Given the description of an element on the screen output the (x, y) to click on. 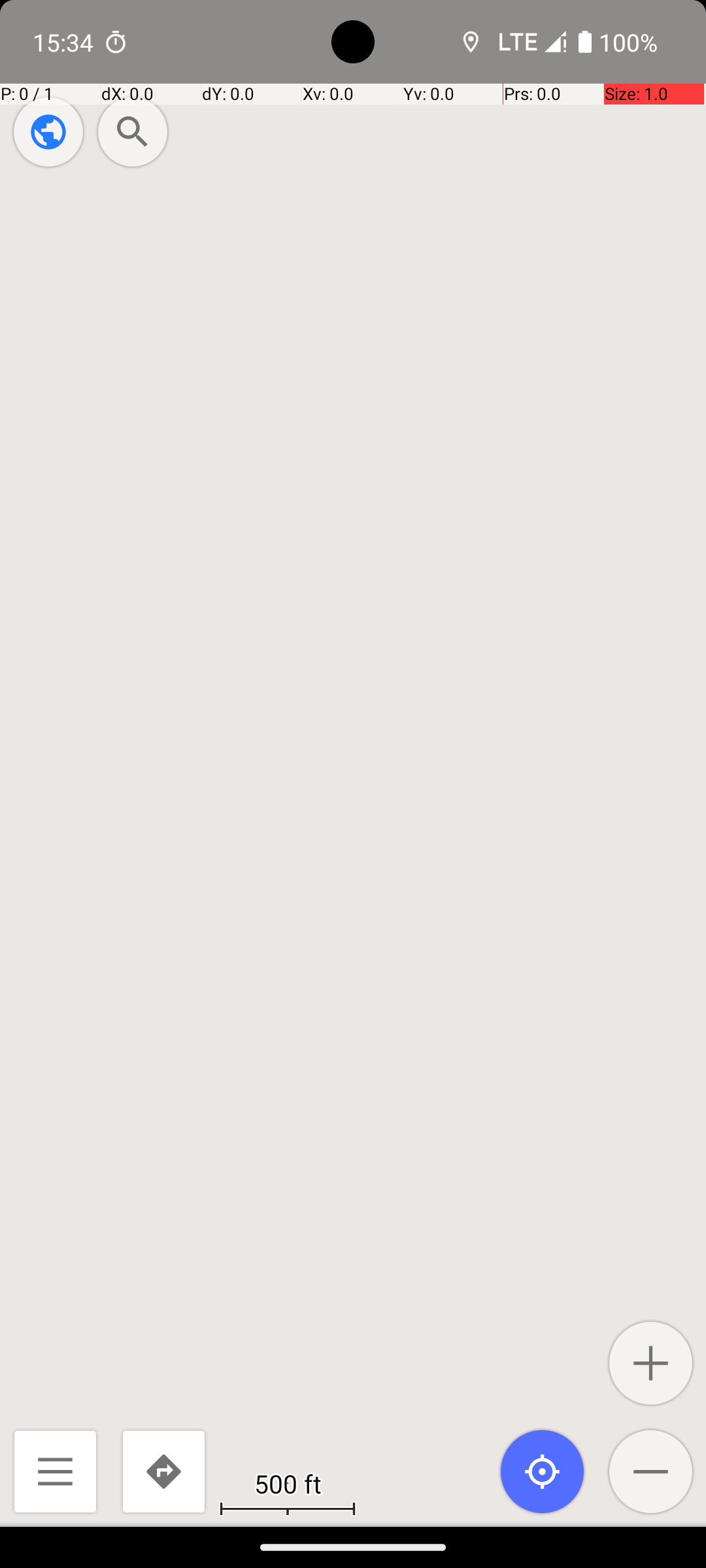
500 ft Element type: android.widget.TextView (287, 1483)
Where am I Element type: android.widget.ImageButton (542, 1471)
